Given the description of an element on the screen output the (x, y) to click on. 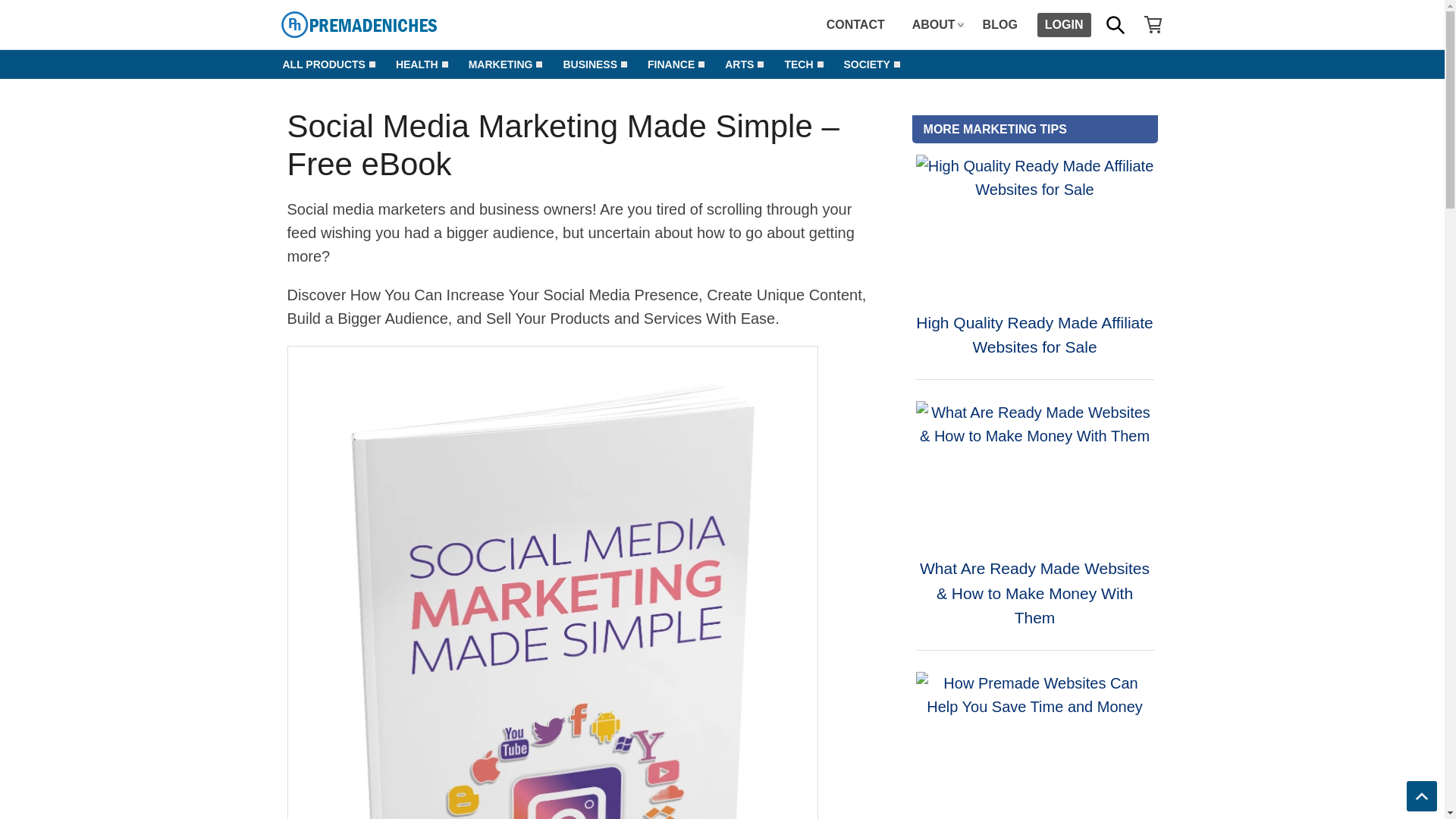
HEALTH (416, 63)
LOGIN (1063, 24)
ABOUT (933, 23)
High Quality Ready Made Affiliate Websites for Sale (1034, 225)
SEARCH (1114, 23)
PremadeNiches (392, 24)
CONTACT (855, 23)
MARKETING (500, 63)
BLOG (999, 23)
How Premade Websites Can Help You Save Time and Money (1034, 742)
